Given the description of an element on the screen output the (x, y) to click on. 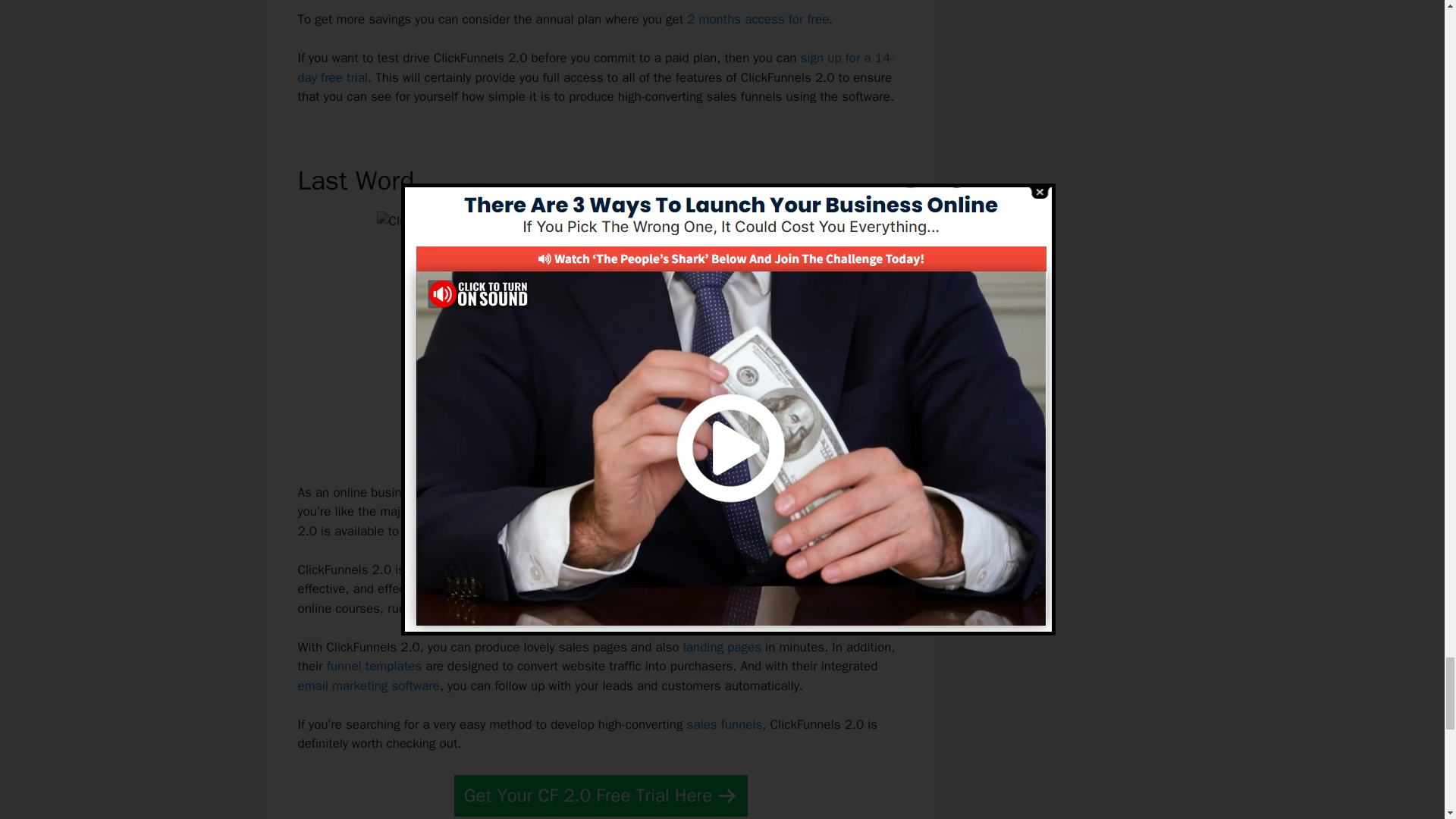
sign up for a 14-day free trial (595, 67)
sales funnels are essential for your success (707, 492)
2 months access for free (757, 19)
sales funnels (724, 724)
funnel templates (374, 666)
email marketing software (368, 685)
landing pages (721, 647)
Get Your CF 2.0 Free Trial Here (601, 795)
